Given the description of an element on the screen output the (x, y) to click on. 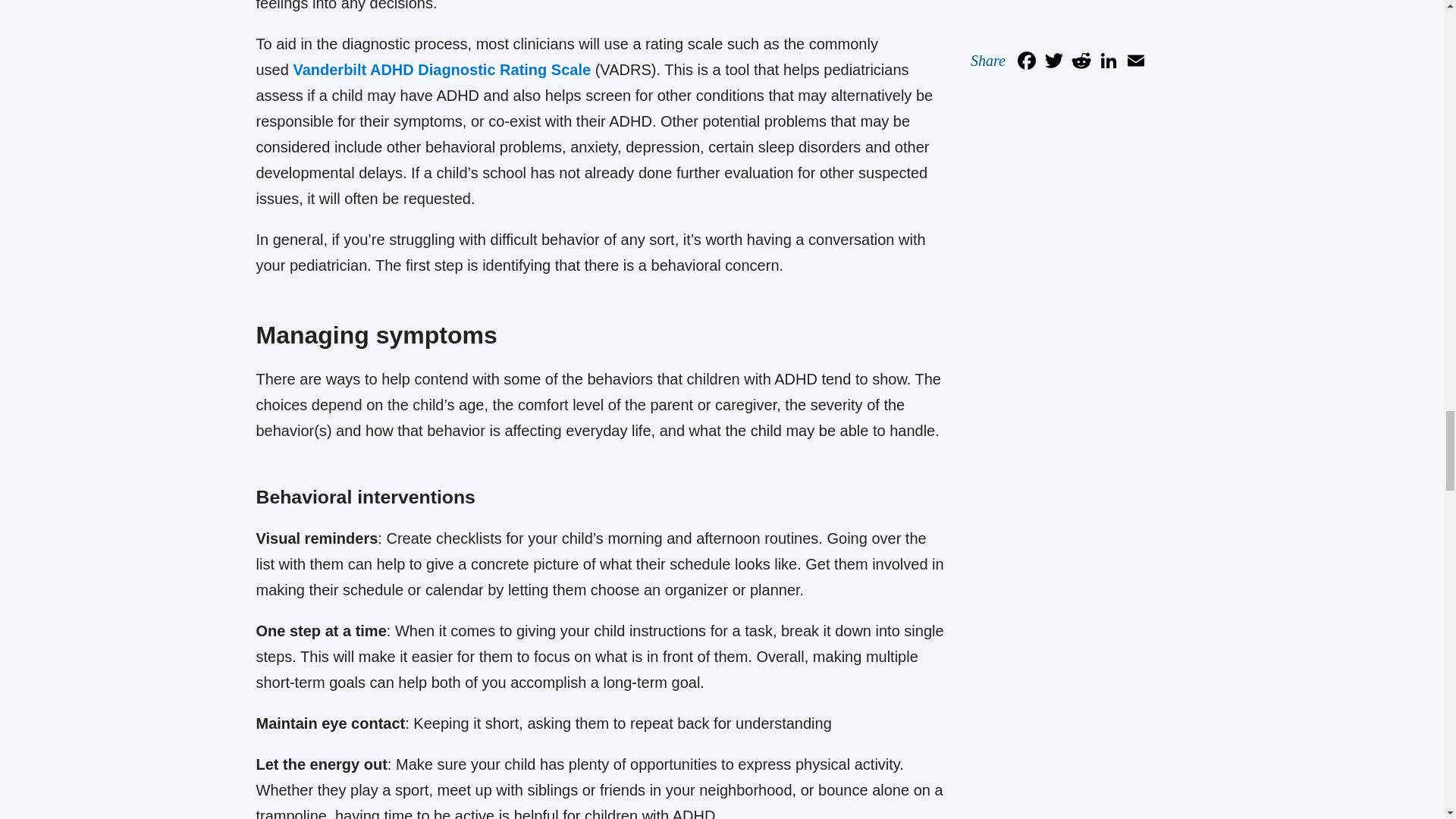
Vanderbilt ADHD Diagnostic Rating Scale (441, 69)
